Given the description of an element on the screen output the (x, y) to click on. 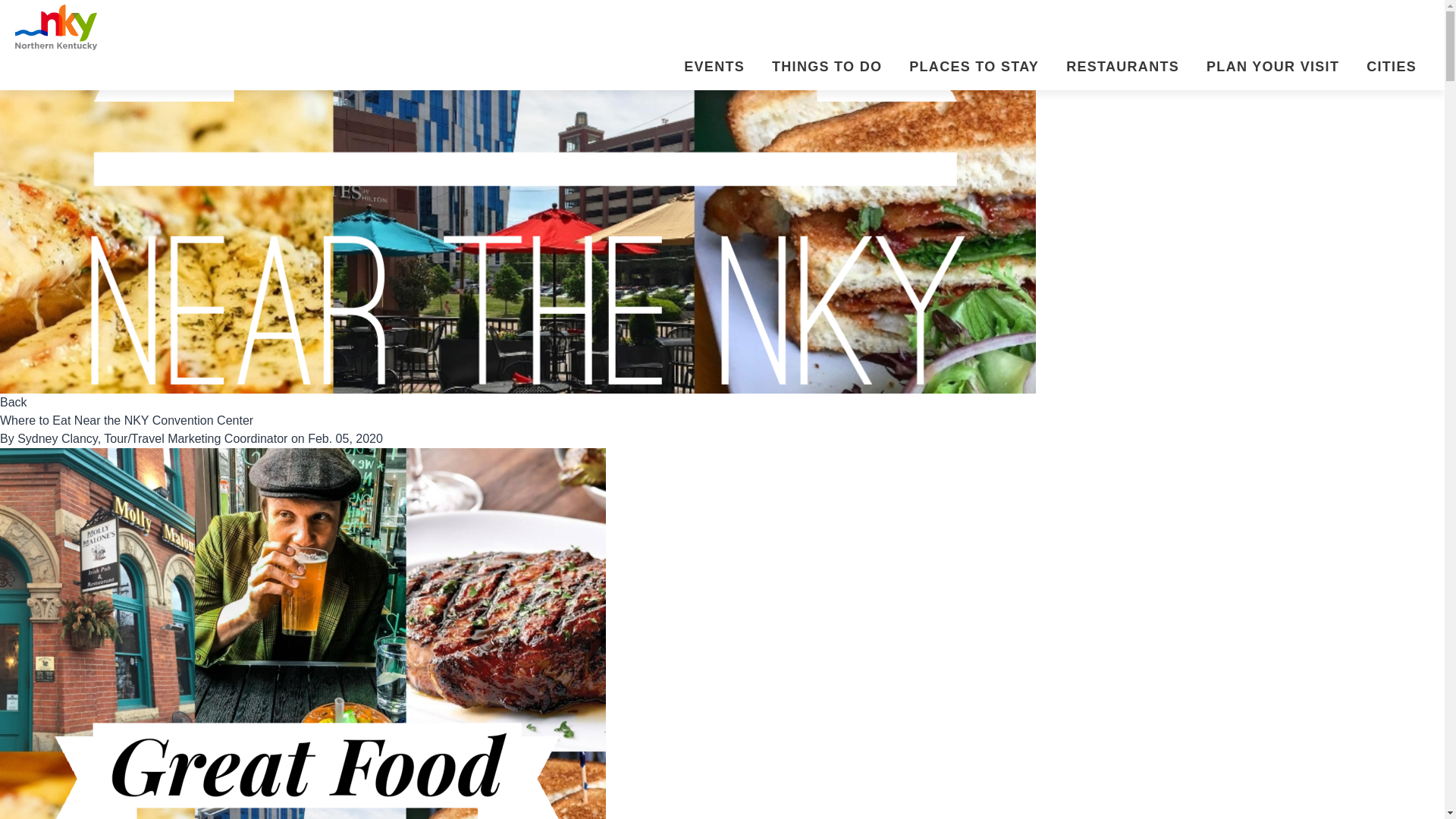
PLAN YOUR VISIT (1269, 67)
CITIES (1387, 67)
THINGS TO DO (823, 67)
EVENTS (710, 67)
RESTAURANTS (1119, 67)
PLACES TO STAY (970, 67)
